Given the description of an element on the screen output the (x, y) to click on. 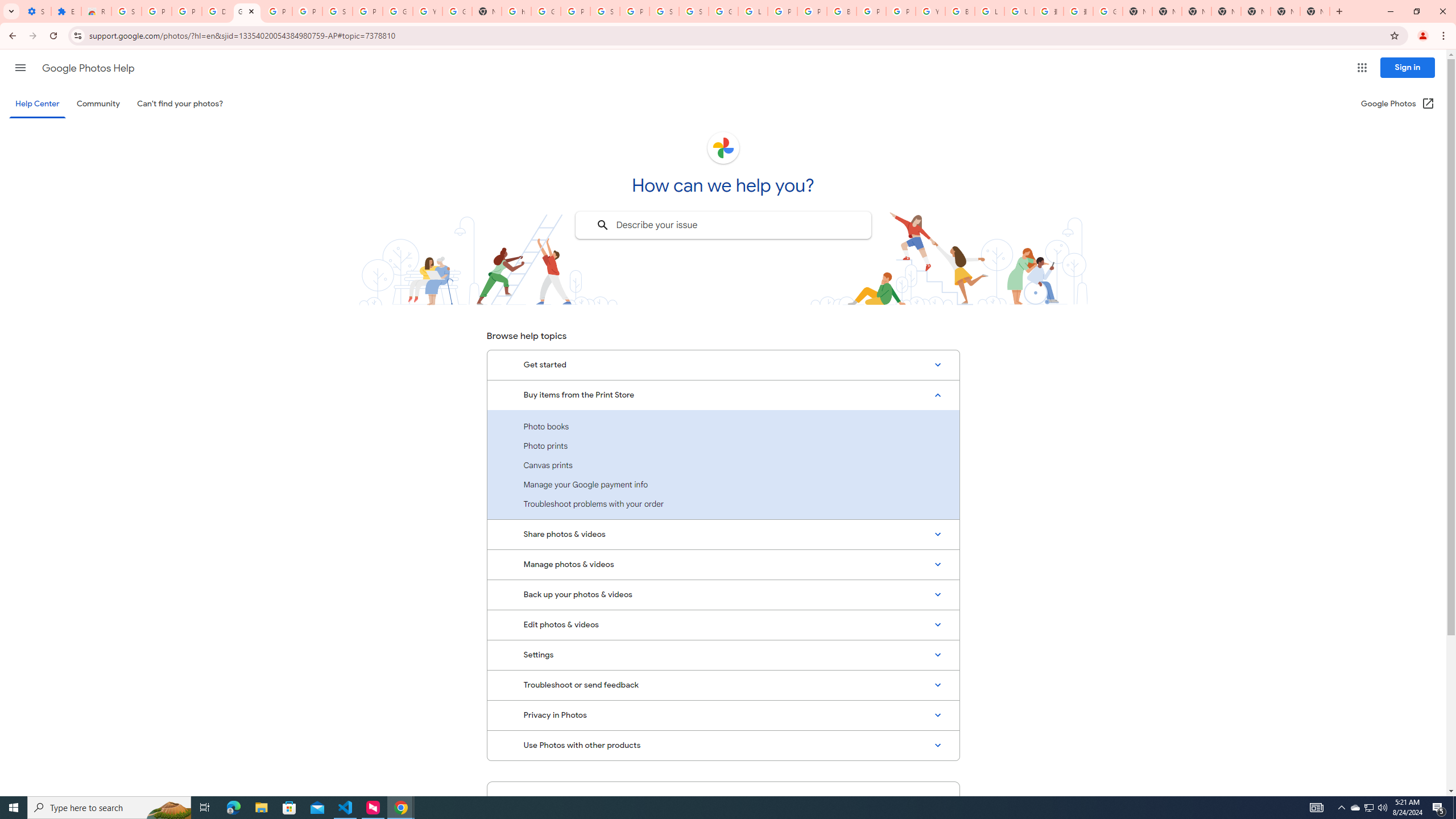
Use Photos with other products (722, 745)
Troubleshoot or send feedback (722, 685)
Google Photos Help (87, 68)
Manage photos & videos (722, 564)
Share photos & videos (722, 534)
Main menu (20, 67)
Privacy Help Center - Policies Help (782, 11)
Help Center (36, 103)
